Given the description of an element on the screen output the (x, y) to click on. 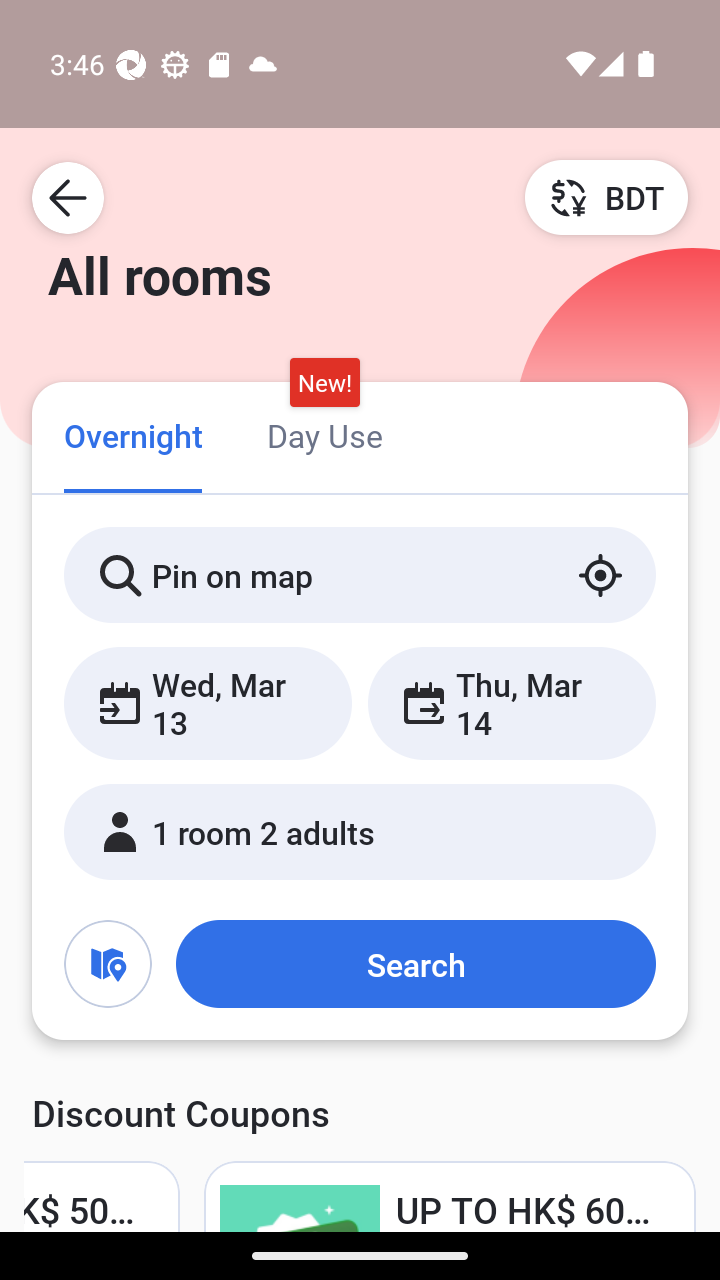
BDT (606, 197)
New! (324, 383)
Day Use (324, 434)
Pin on map (359, 575)
Wed, Mar 13 (208, 703)
Thu, Mar 14 (511, 703)
1 room 2 adults (359, 831)
Search (415, 964)
